Given the description of an element on the screen output the (x, y) to click on. 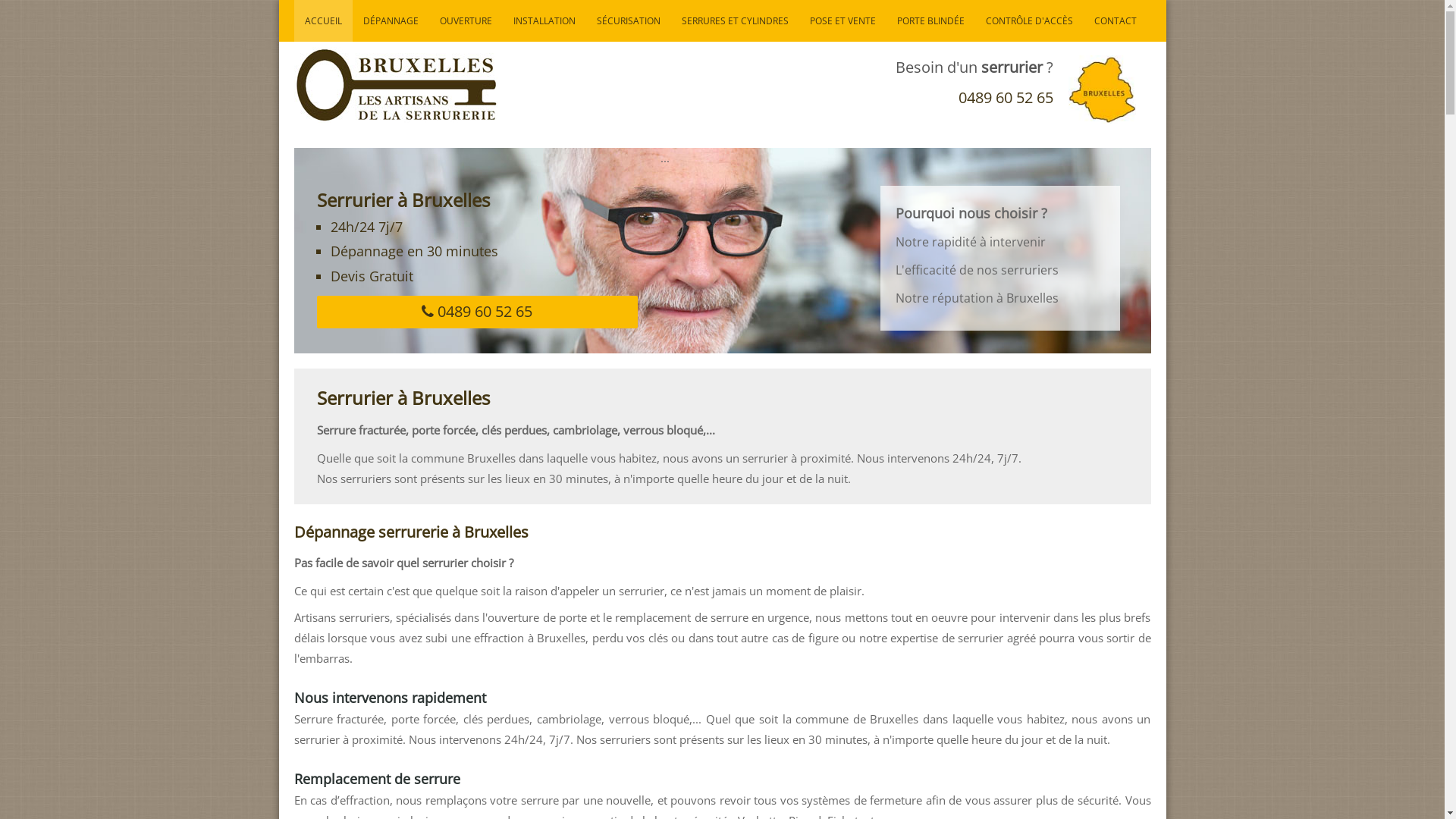
POSE ET VENTE Element type: text (842, 20)
0489 60 52 65 Element type: text (476, 311)
SERRURES ET CYLINDRES Element type: text (734, 20)
CONTACT Element type: text (1114, 20)
OUVERTURE Element type: text (465, 20)
ACCUEIL Element type: text (323, 20)
Serrurier Bruxelles Element type: hover (396, 83)
0489 60 52 65 Element type: text (1005, 97)
INSTALLATION Element type: text (543, 20)
